Given the description of an element on the screen output the (x, y) to click on. 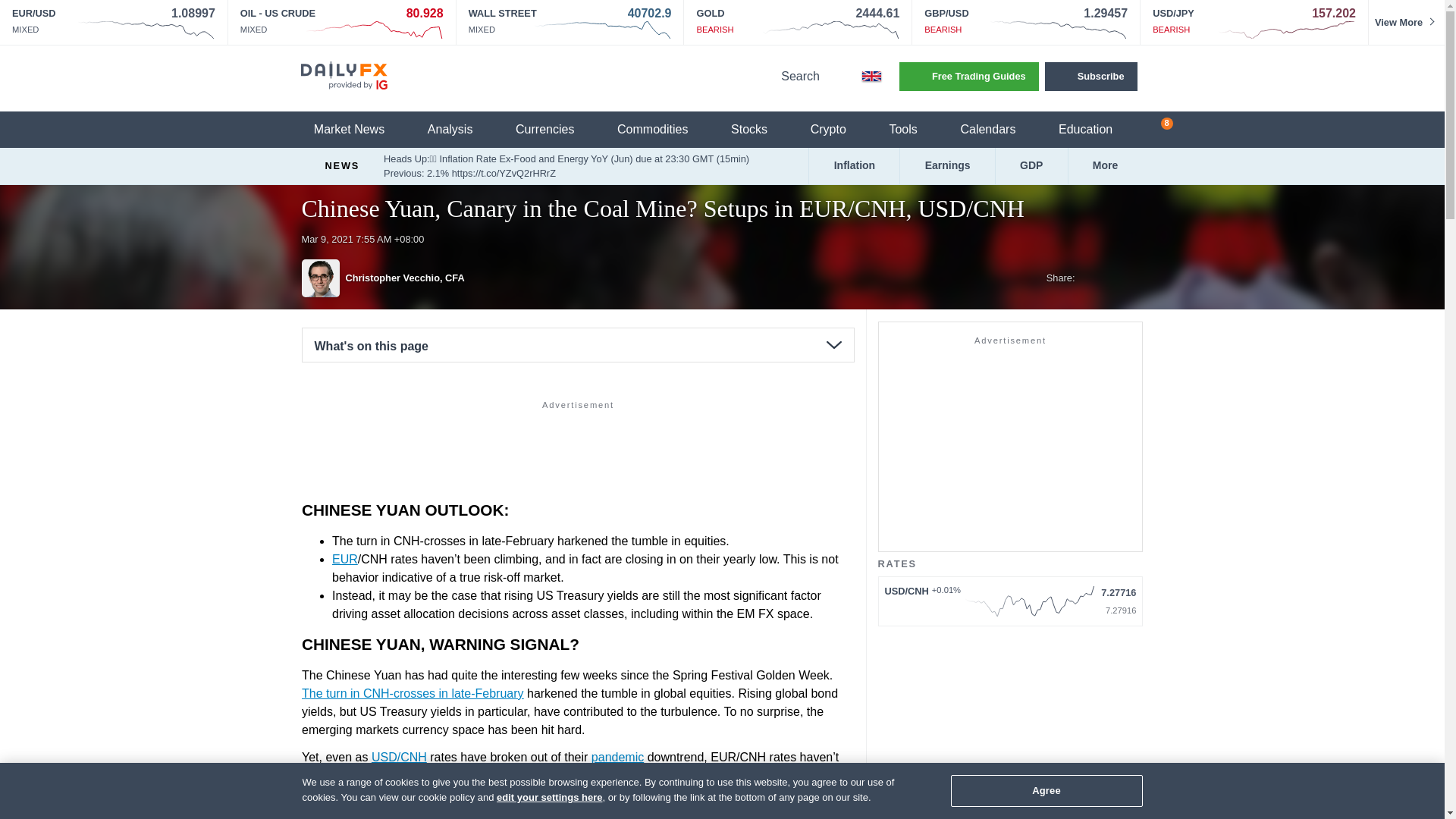
Market News (357, 129)
Subscribe (1091, 76)
EUR (344, 558)
Free Trading Guides (969, 76)
pandemic (617, 756)
Analysis (458, 129)
Currencies (554, 129)
